Given the description of an element on the screen output the (x, y) to click on. 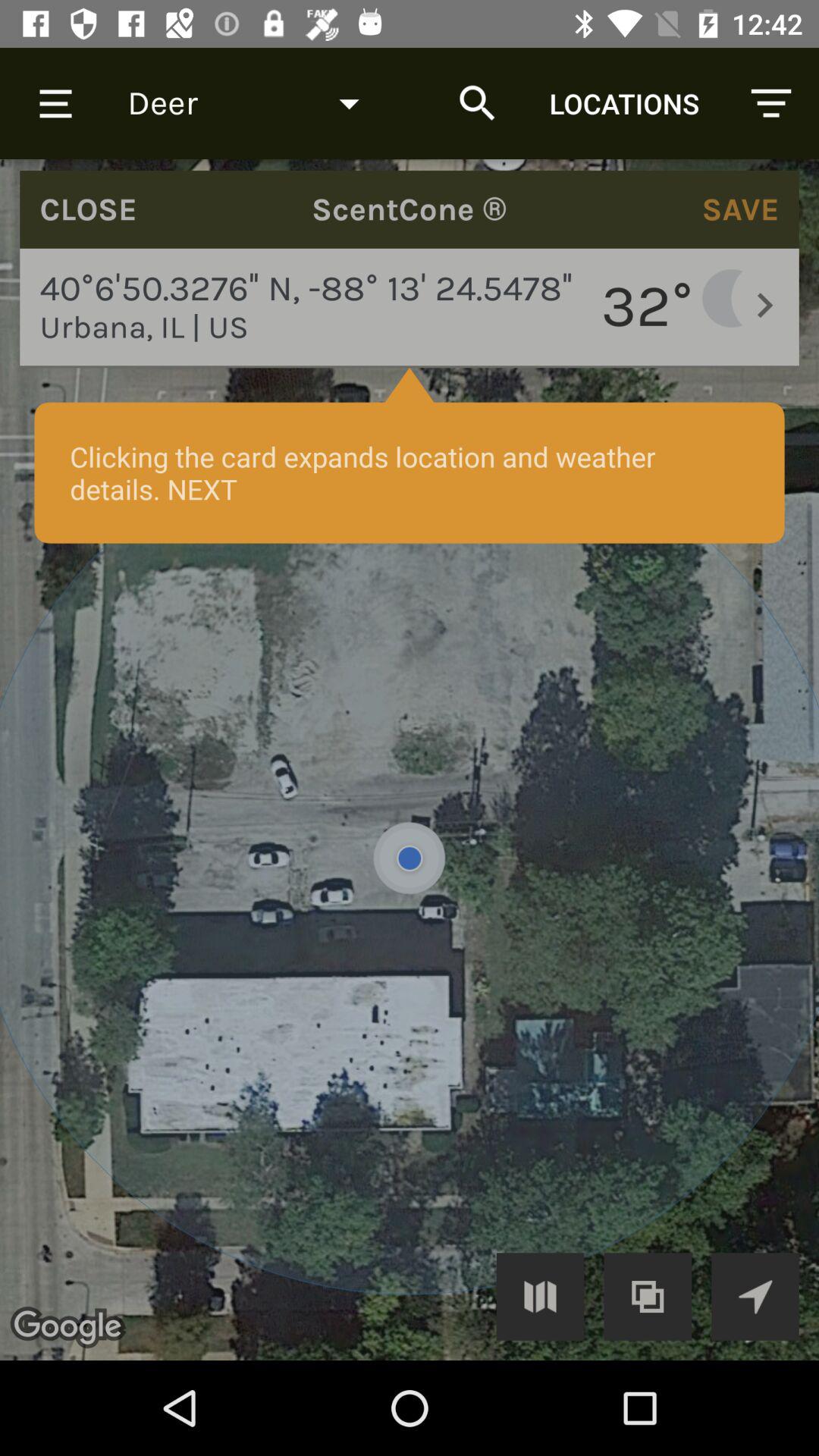
gps map with temperature (409, 759)
